Given the description of an element on the screen output the (x, y) to click on. 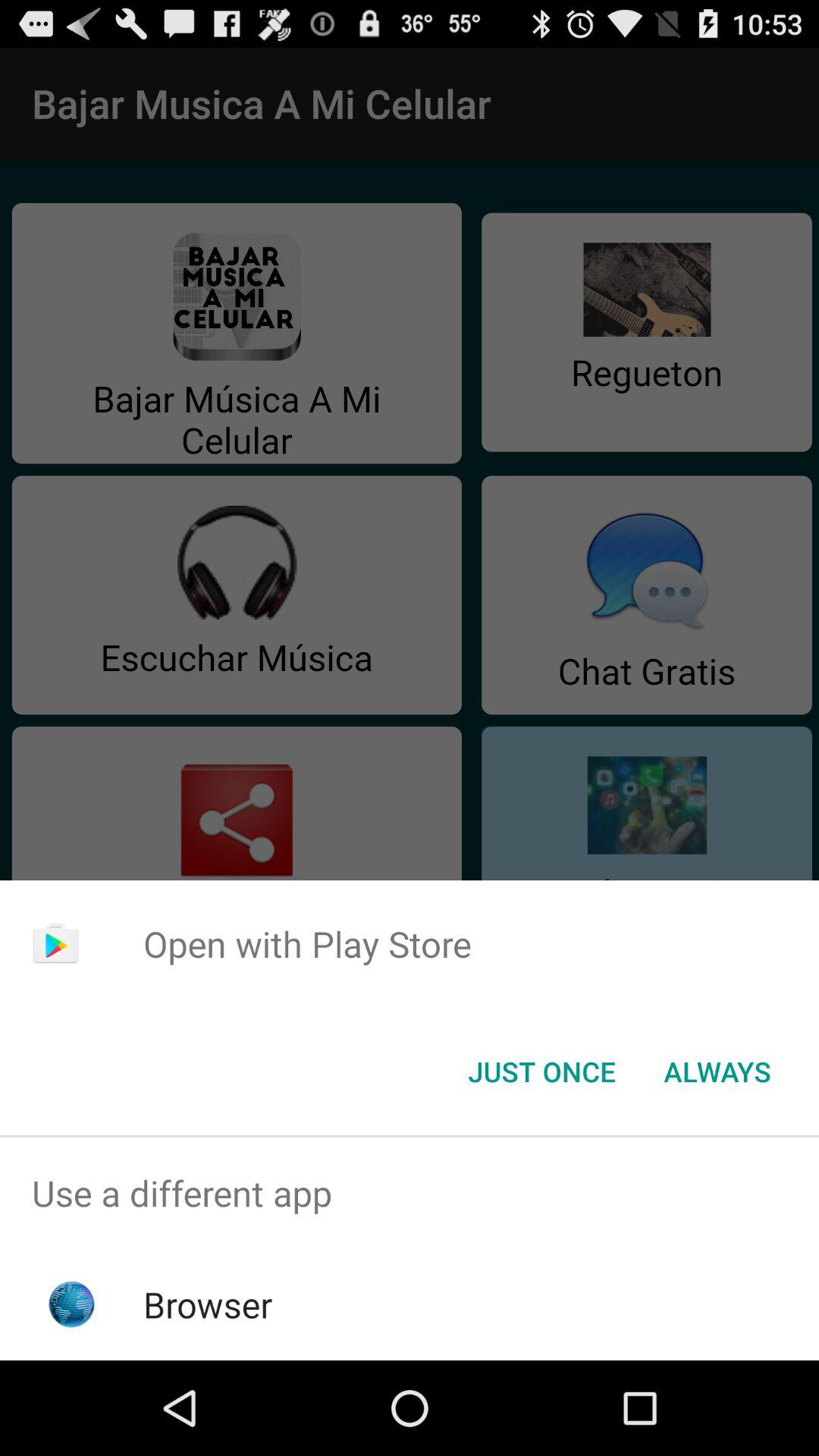
select the just once button (541, 1071)
